Given the description of an element on the screen output the (x, y) to click on. 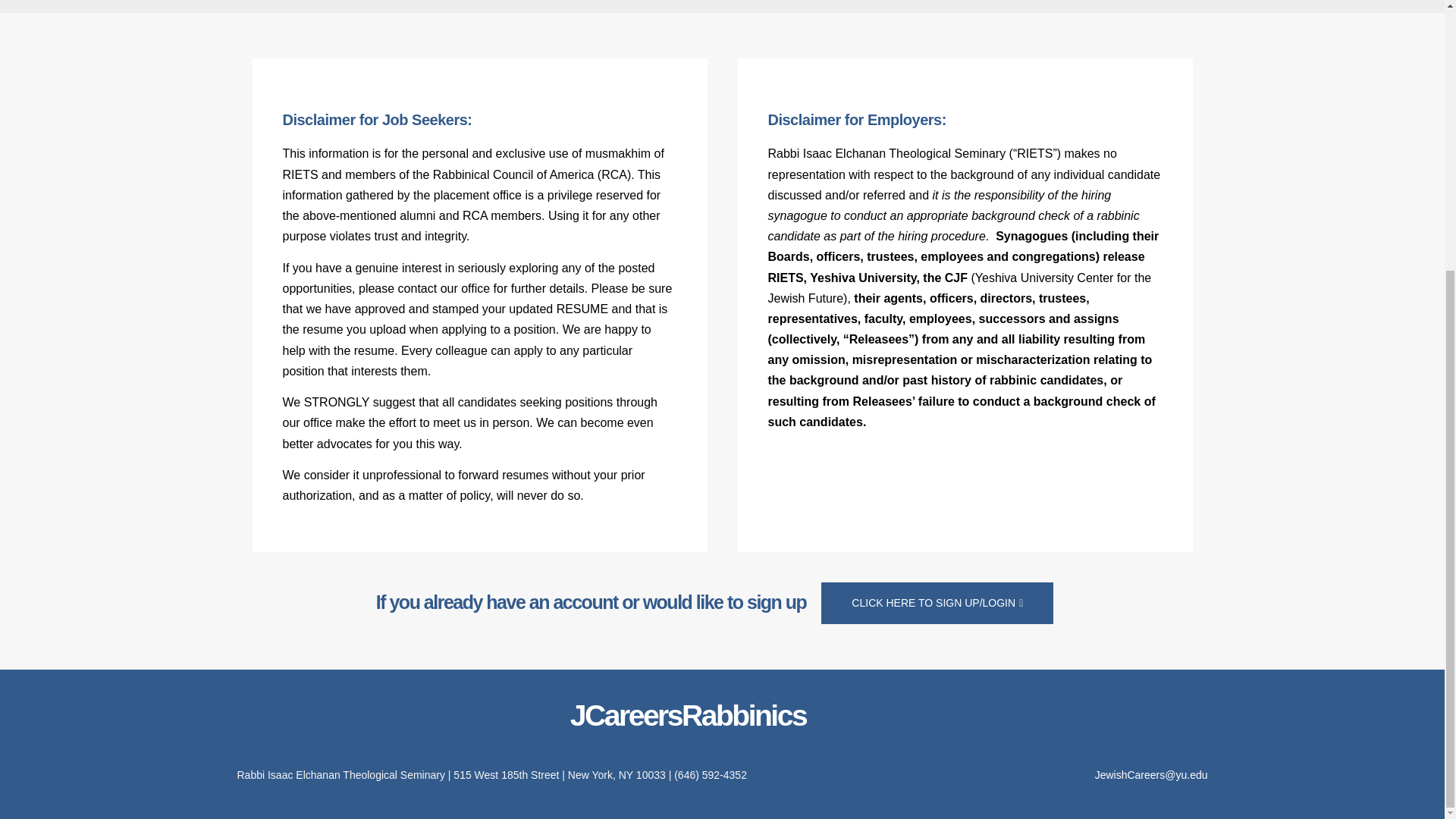
JCareersRabbinics (688, 715)
